Given the description of an element on the screen output the (x, y) to click on. 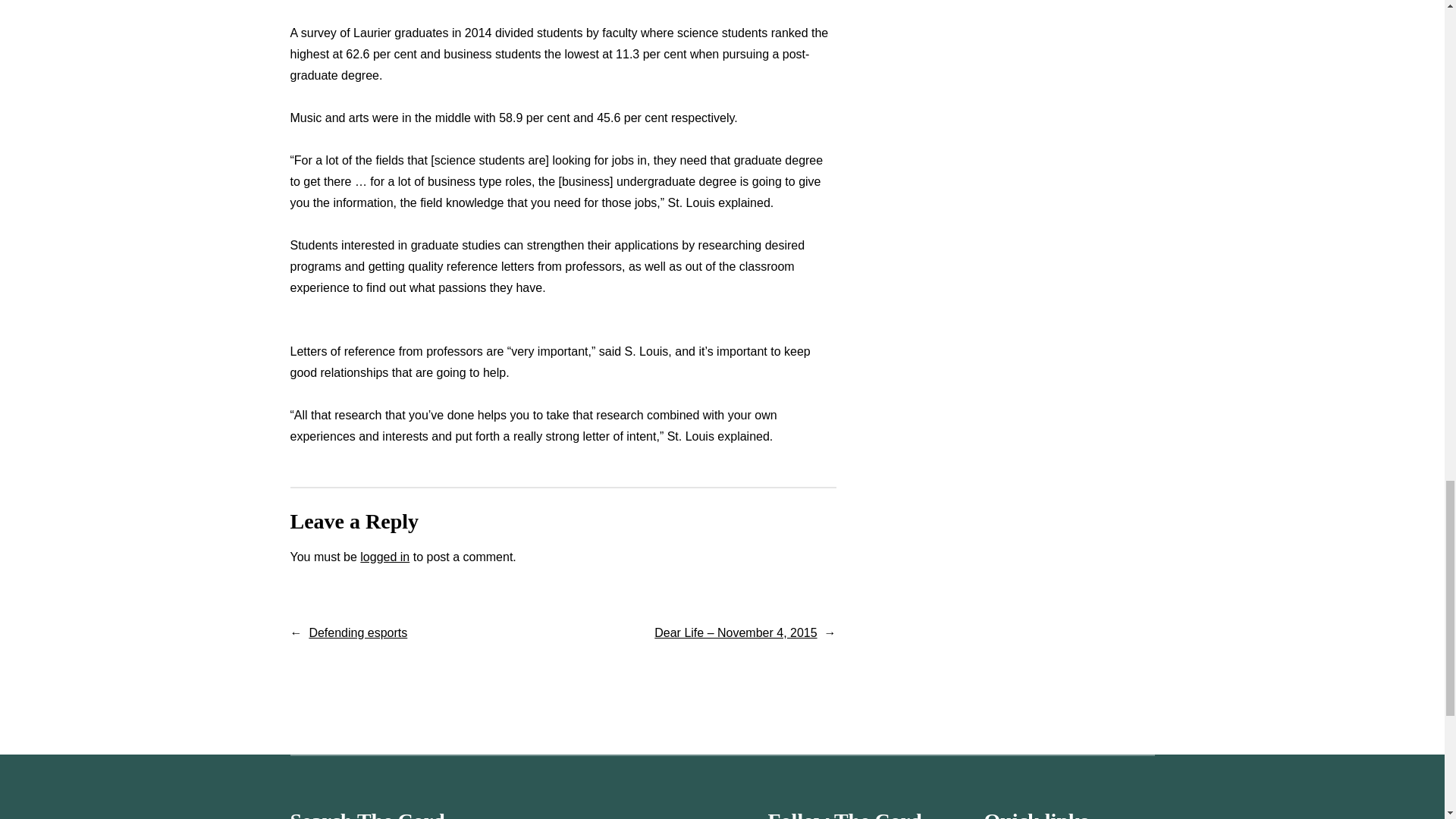
logged in (384, 556)
Defending esports (357, 632)
